Given the description of an element on the screen output the (x, y) to click on. 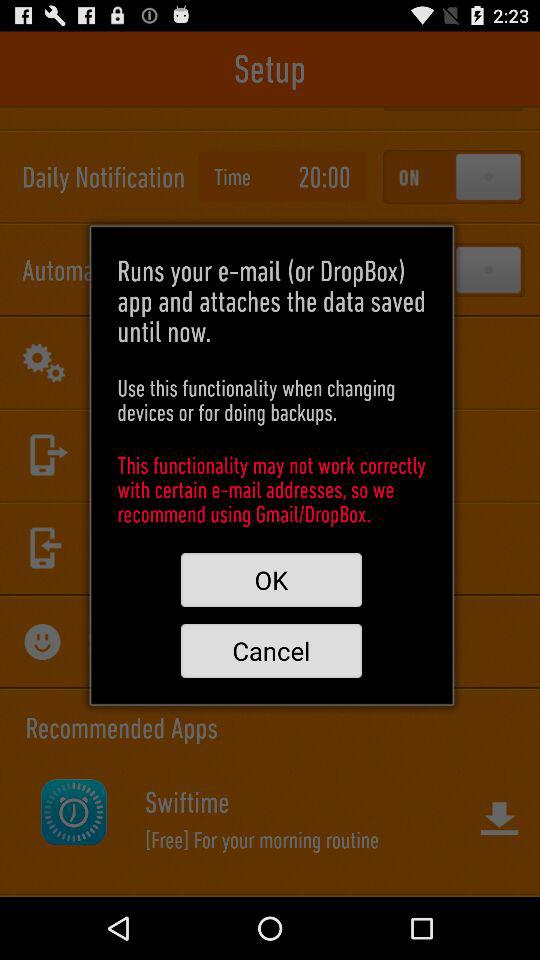
tap cancel icon (271, 650)
